Given the description of an element on the screen output the (x, y) to click on. 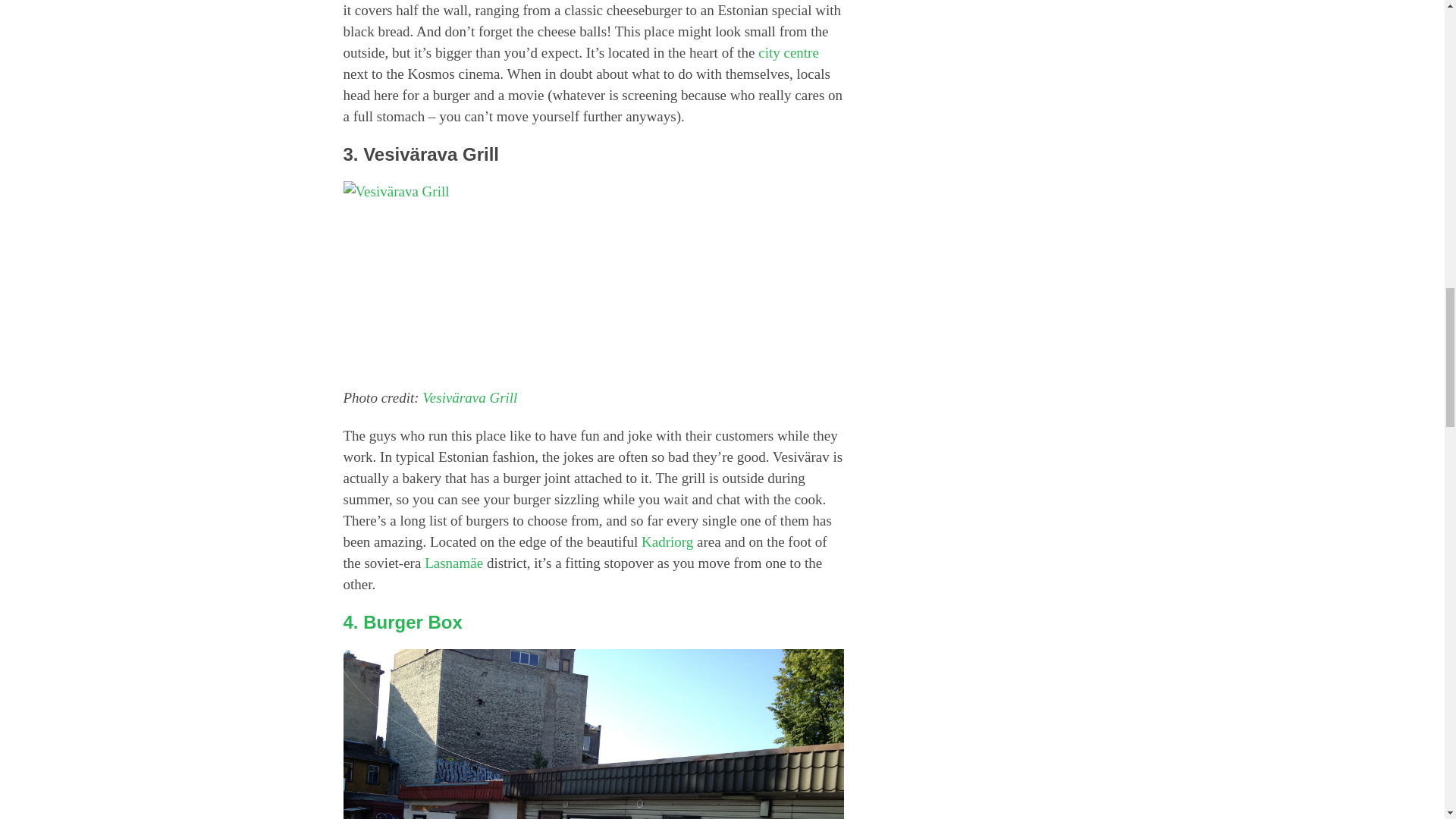
Kadriorg (667, 541)
city centre (788, 52)
4. Burger Box (401, 621)
